Given the description of an element on the screen output the (x, y) to click on. 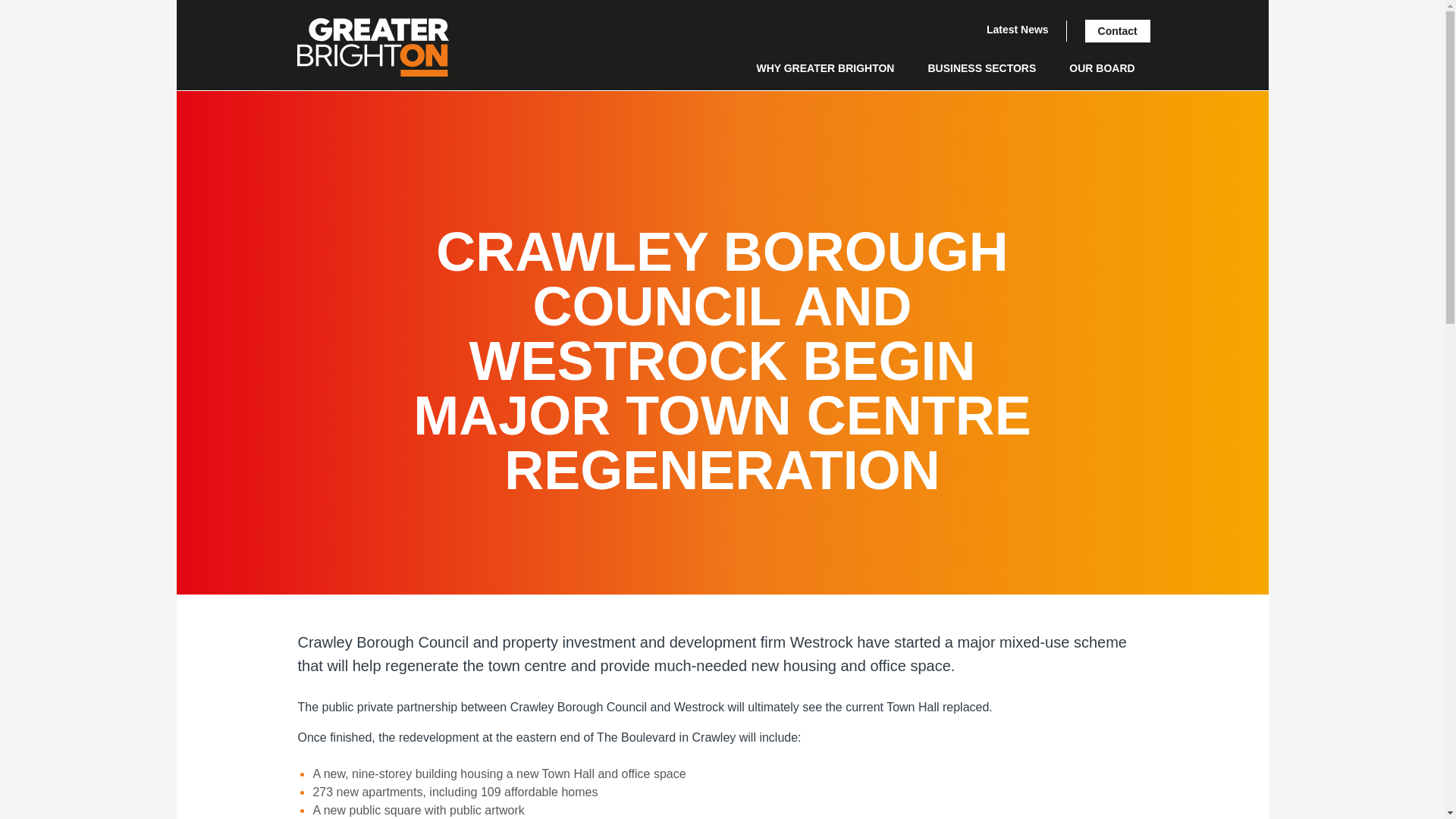
WHY GREATER BRIGHTON (824, 68)
Latest News (1017, 29)
Contact (1117, 30)
OUR BOARD (1101, 68)
BUSINESS SECTORS (981, 68)
